Given the description of an element on the screen output the (x, y) to click on. 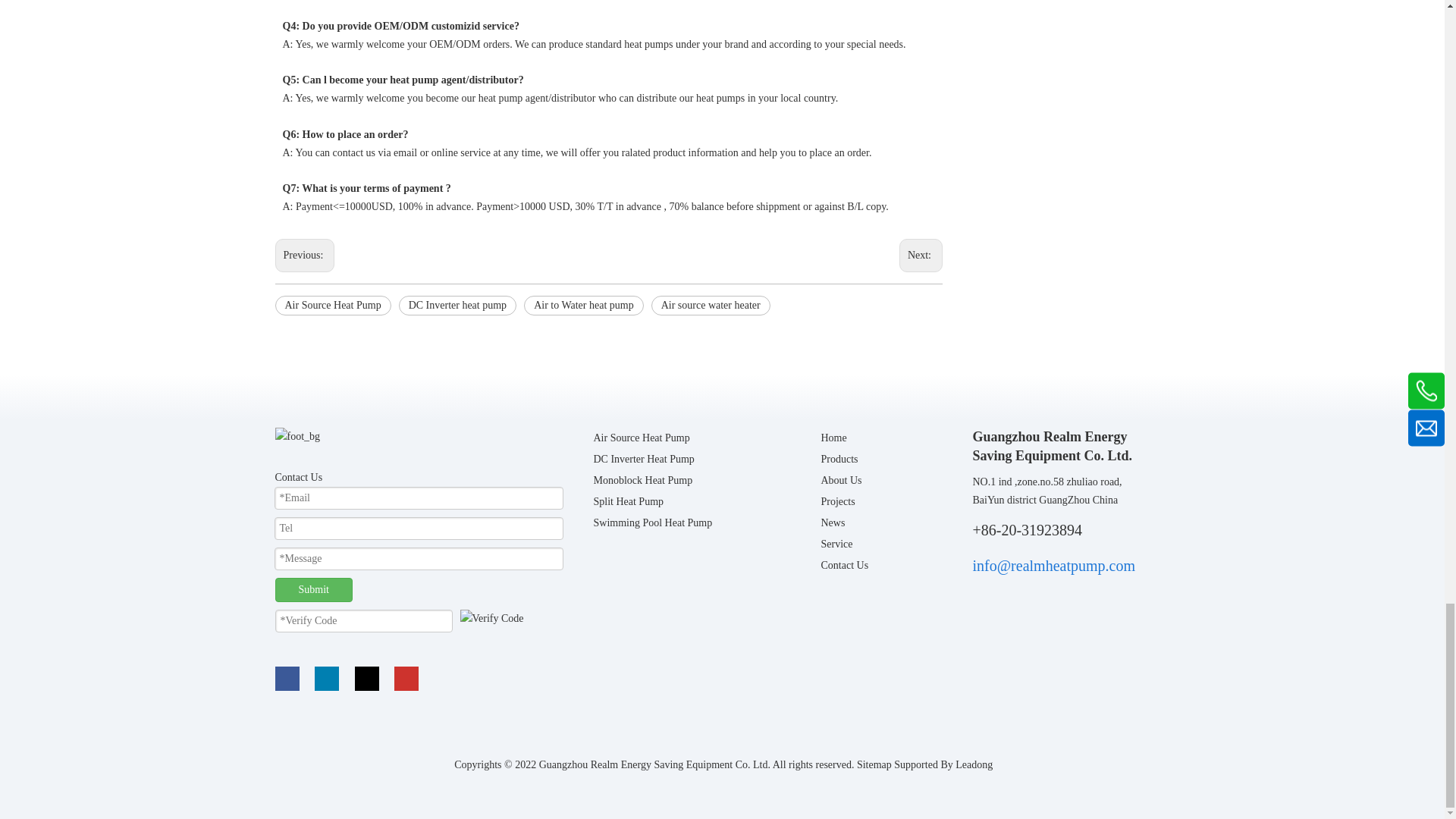
Air Source Heat Pump (332, 305)
Air to Water heat pump (583, 305)
DC Inverter heat pump (457, 305)
Air source water heater (710, 305)
